Given the description of an element on the screen output the (x, y) to click on. 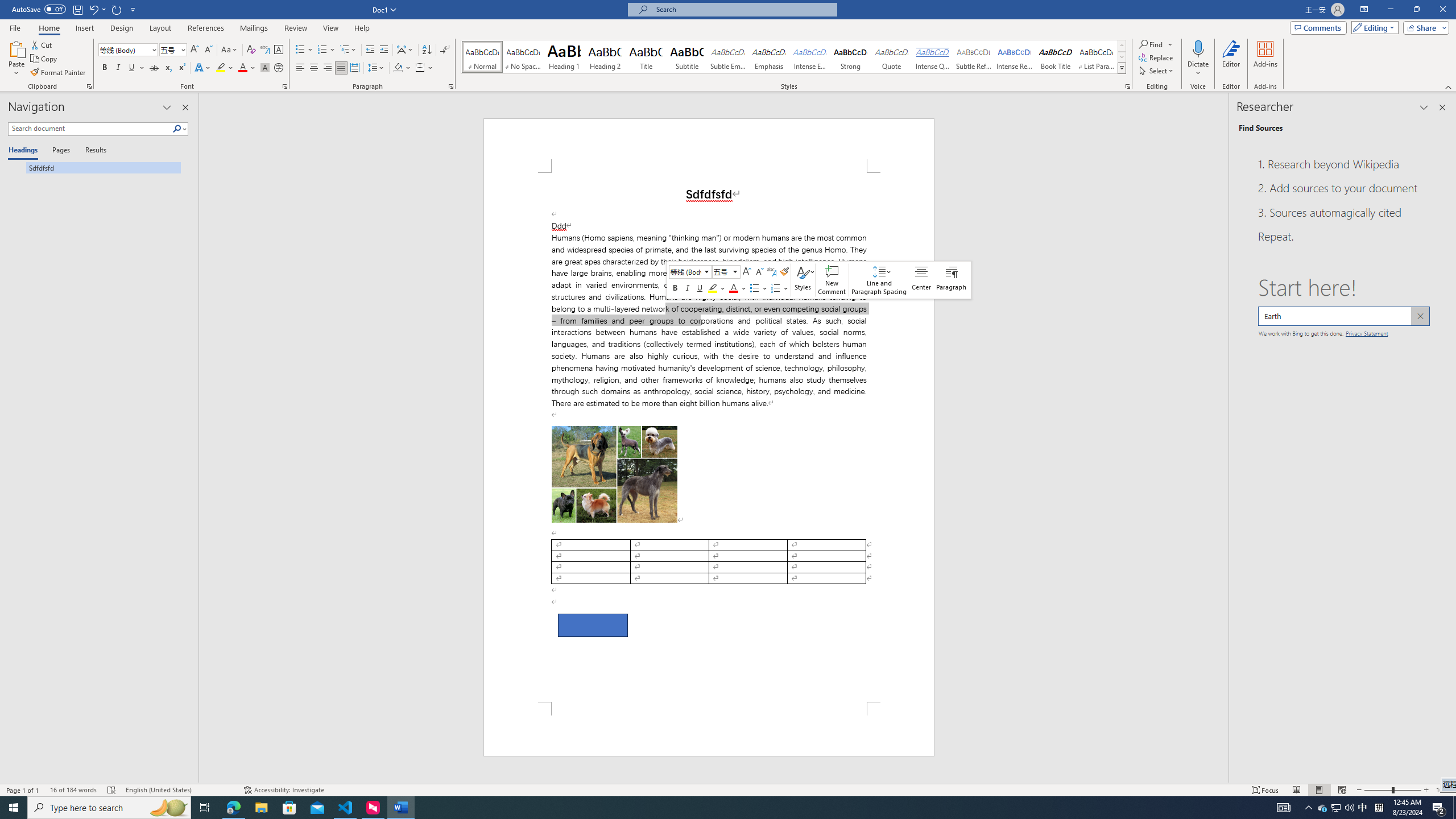
Heading 2 (605, 56)
AutomationID: QuickStylesGallery (794, 56)
Intense Quote (932, 56)
Class: NetUIToolWindow (818, 279)
